Given the description of an element on the screen output the (x, y) to click on. 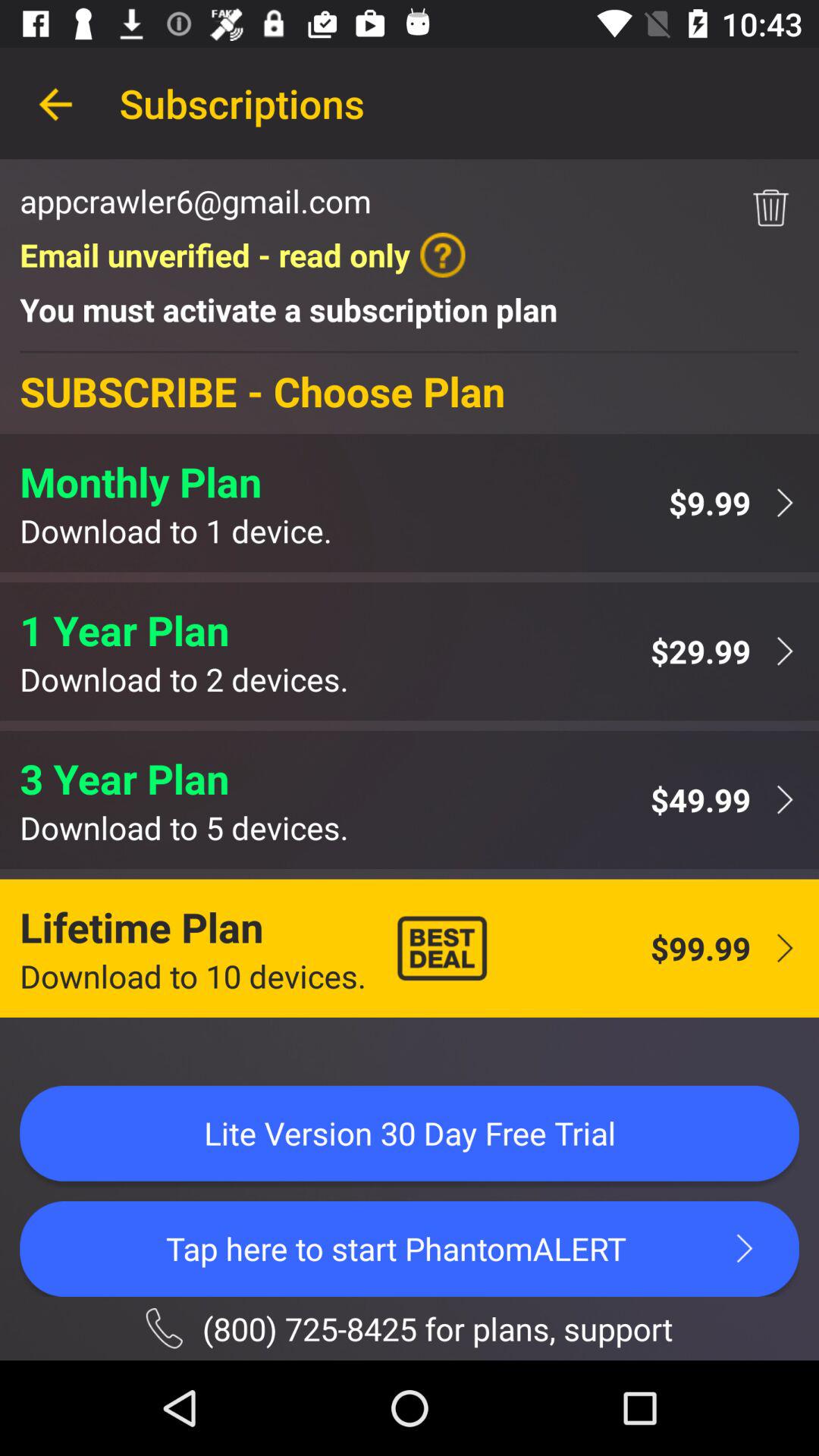
select the icon next to the subscriptions icon (55, 103)
